Given the description of an element on the screen output the (x, y) to click on. 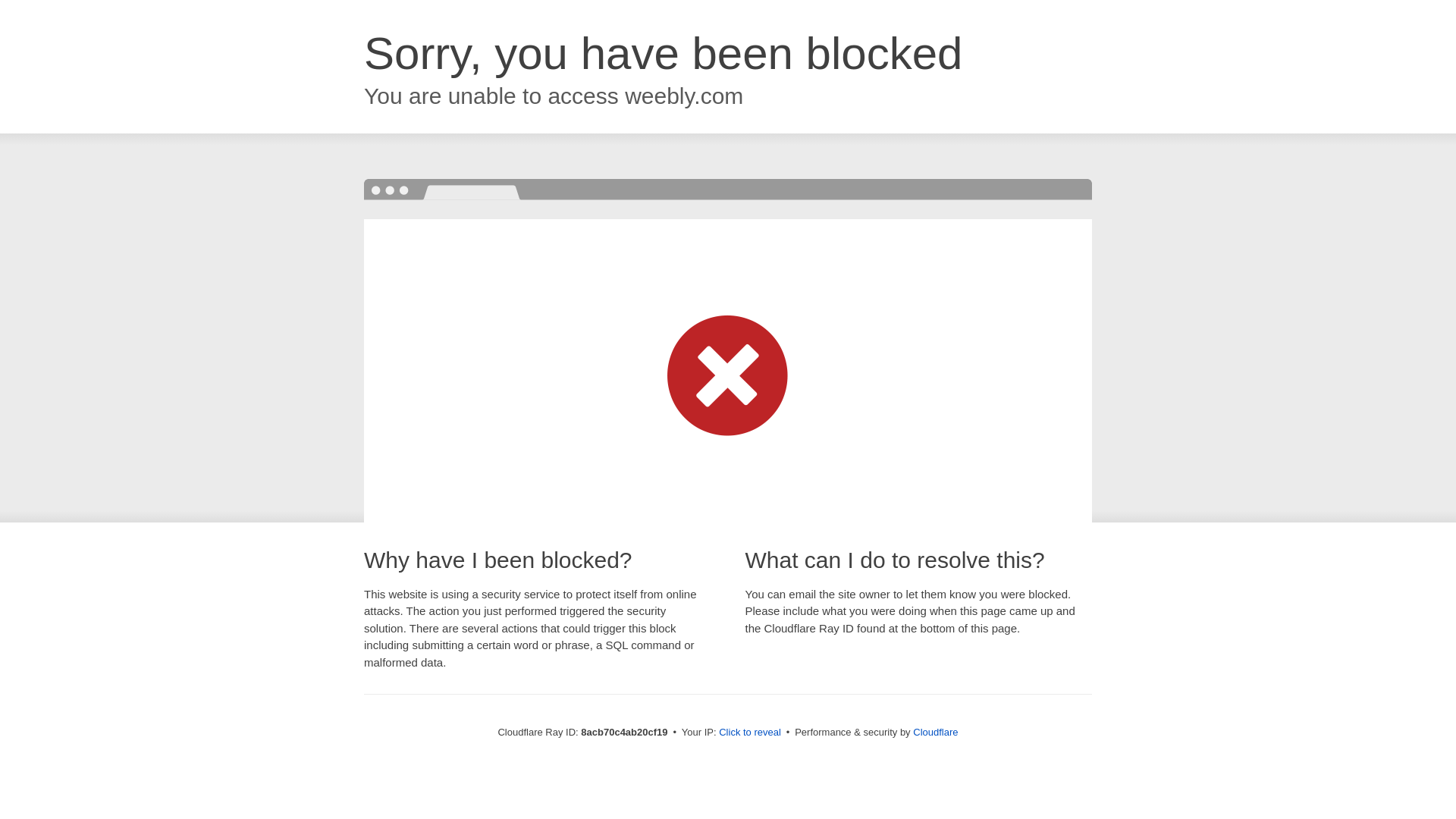
Cloudflare (935, 731)
Click to reveal (749, 732)
